Given the description of an element on the screen output the (x, y) to click on. 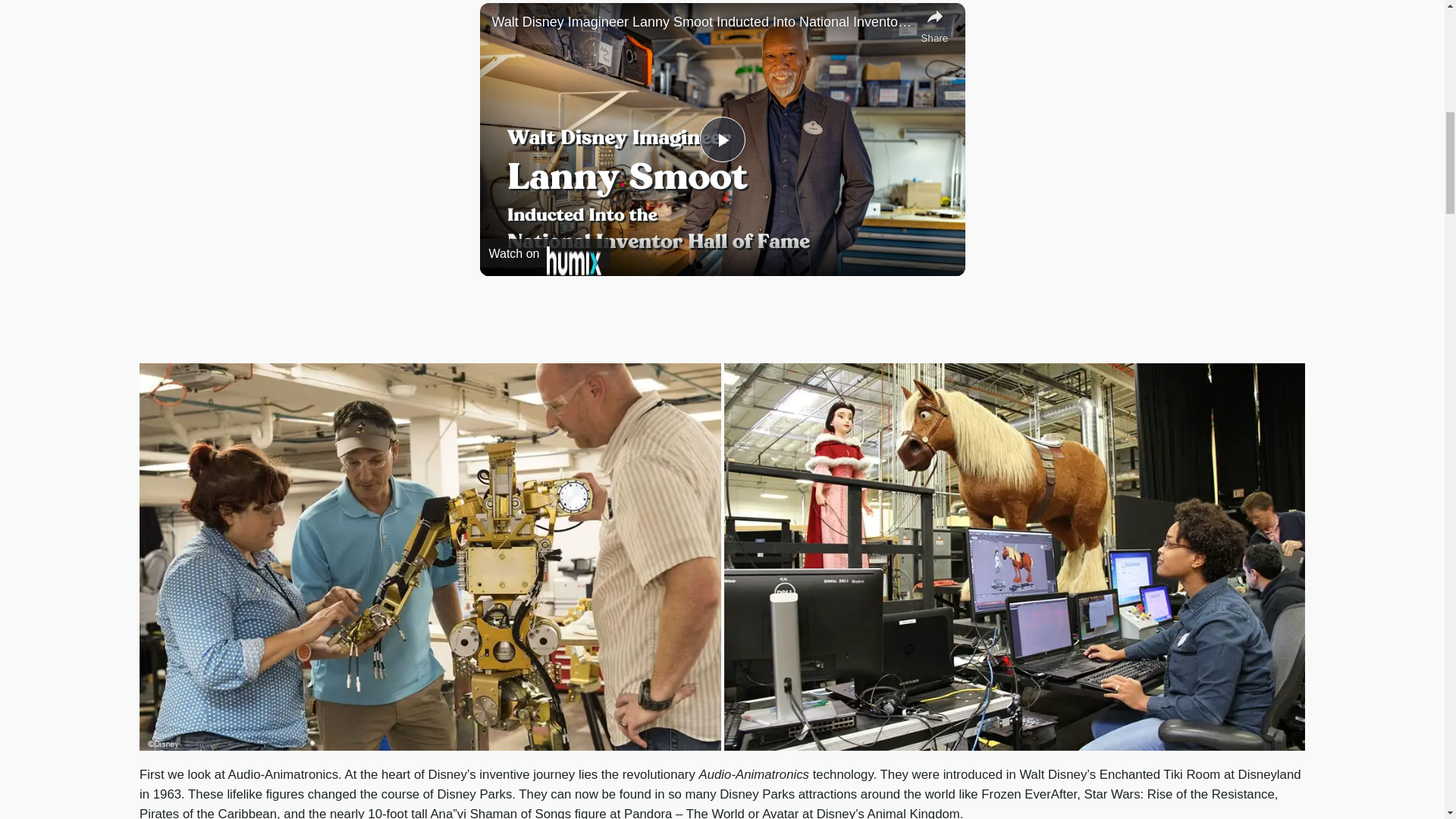
Play Video (721, 139)
Watch on (544, 253)
Play Video (721, 139)
